Given the description of an element on the screen output the (x, y) to click on. 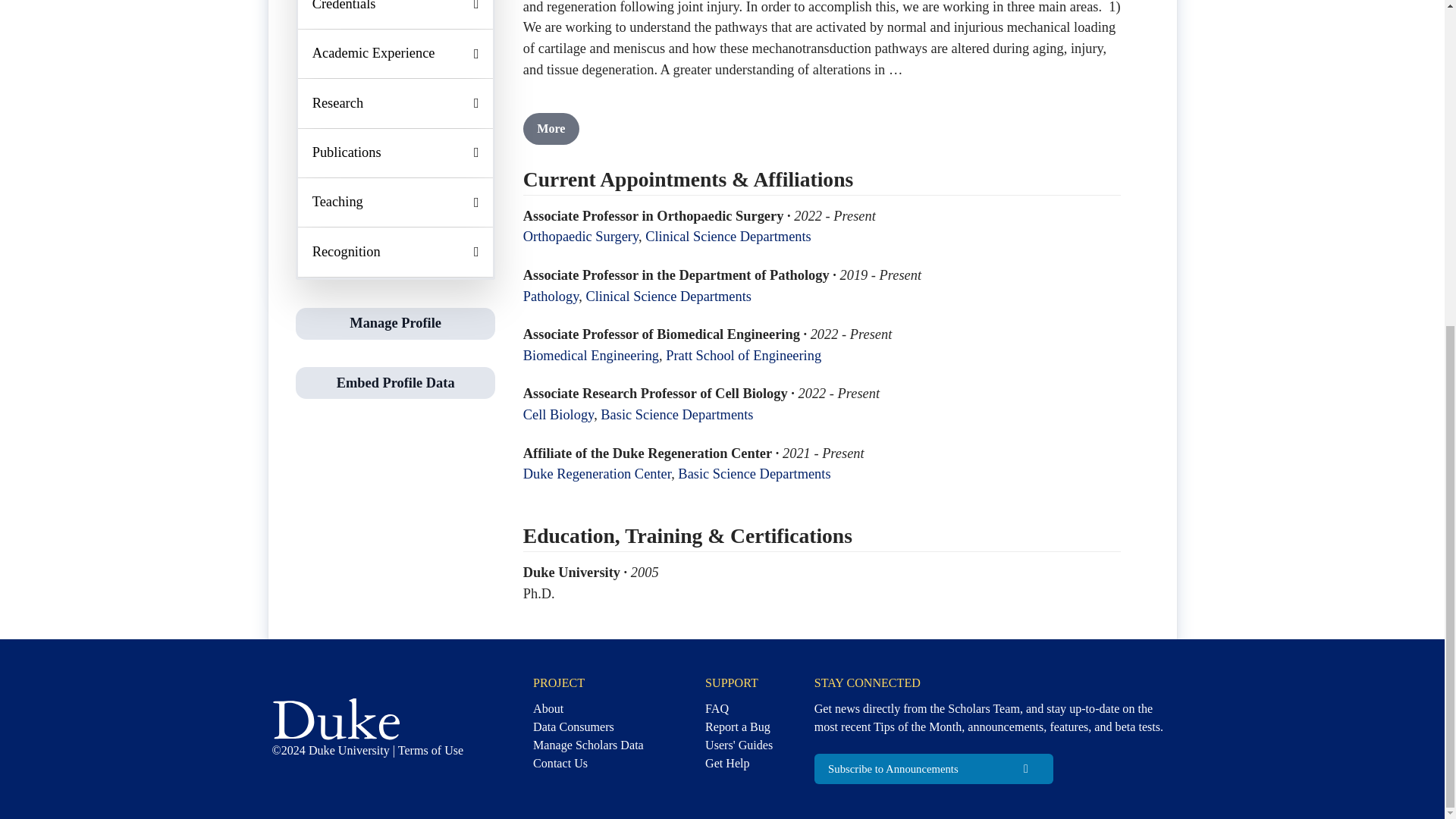
Teaching (395, 202)
Credentials (395, 13)
Publications (395, 152)
Manage Profile (395, 322)
Academic Experience (395, 53)
Embed Profile Data (395, 382)
Recognition (395, 251)
Research (395, 102)
